Given the description of an element on the screen output the (x, y) to click on. 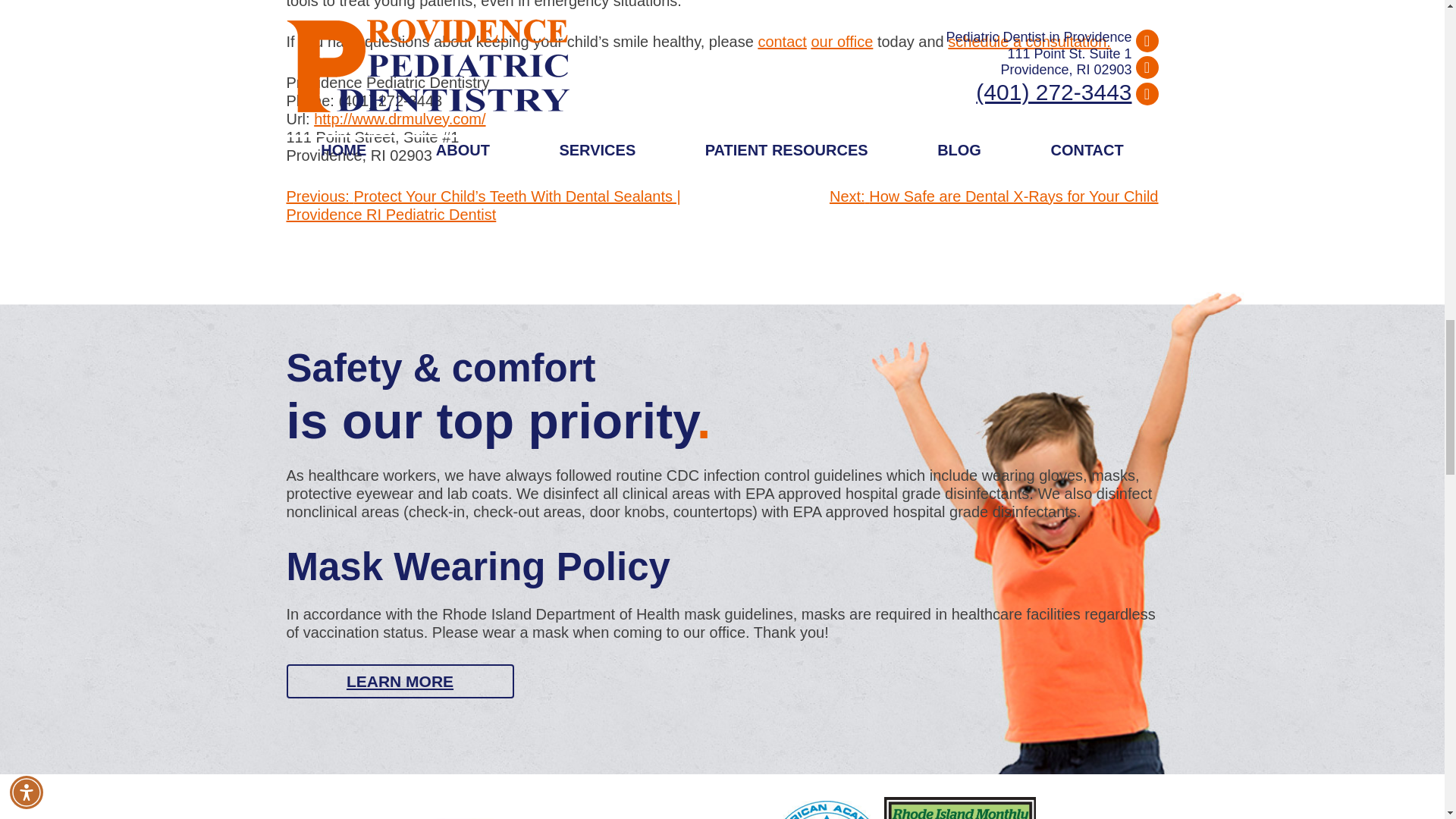
schedule a consultation. (1028, 41)
LEARN MORE (399, 681)
Next: How Safe are Dental X-Rays for Your Child (993, 196)
contact (781, 41)
our office (841, 41)
